Given the description of an element on the screen output the (x, y) to click on. 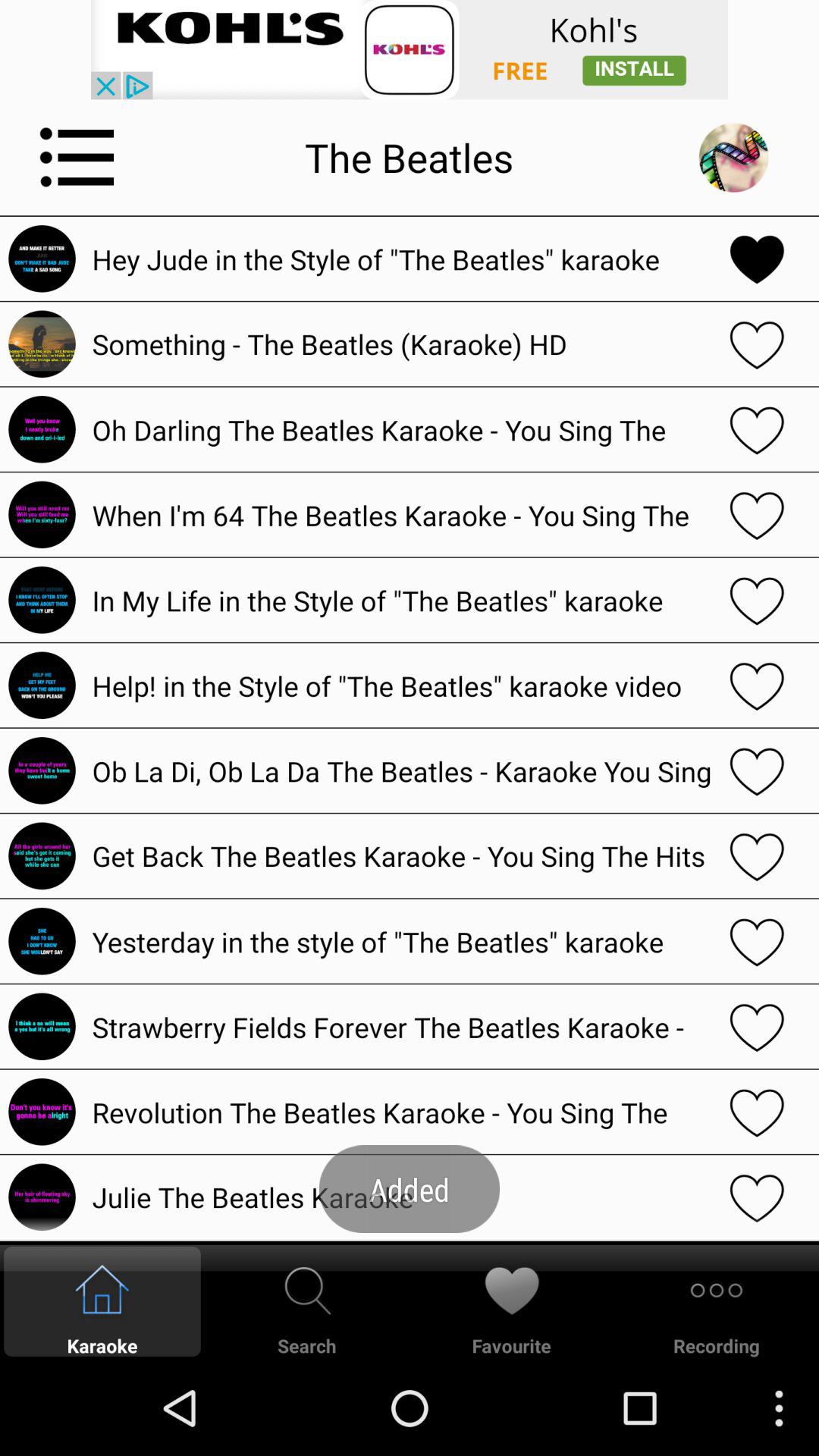
favorite (756, 258)
